Given the description of an element on the screen output the (x, y) to click on. 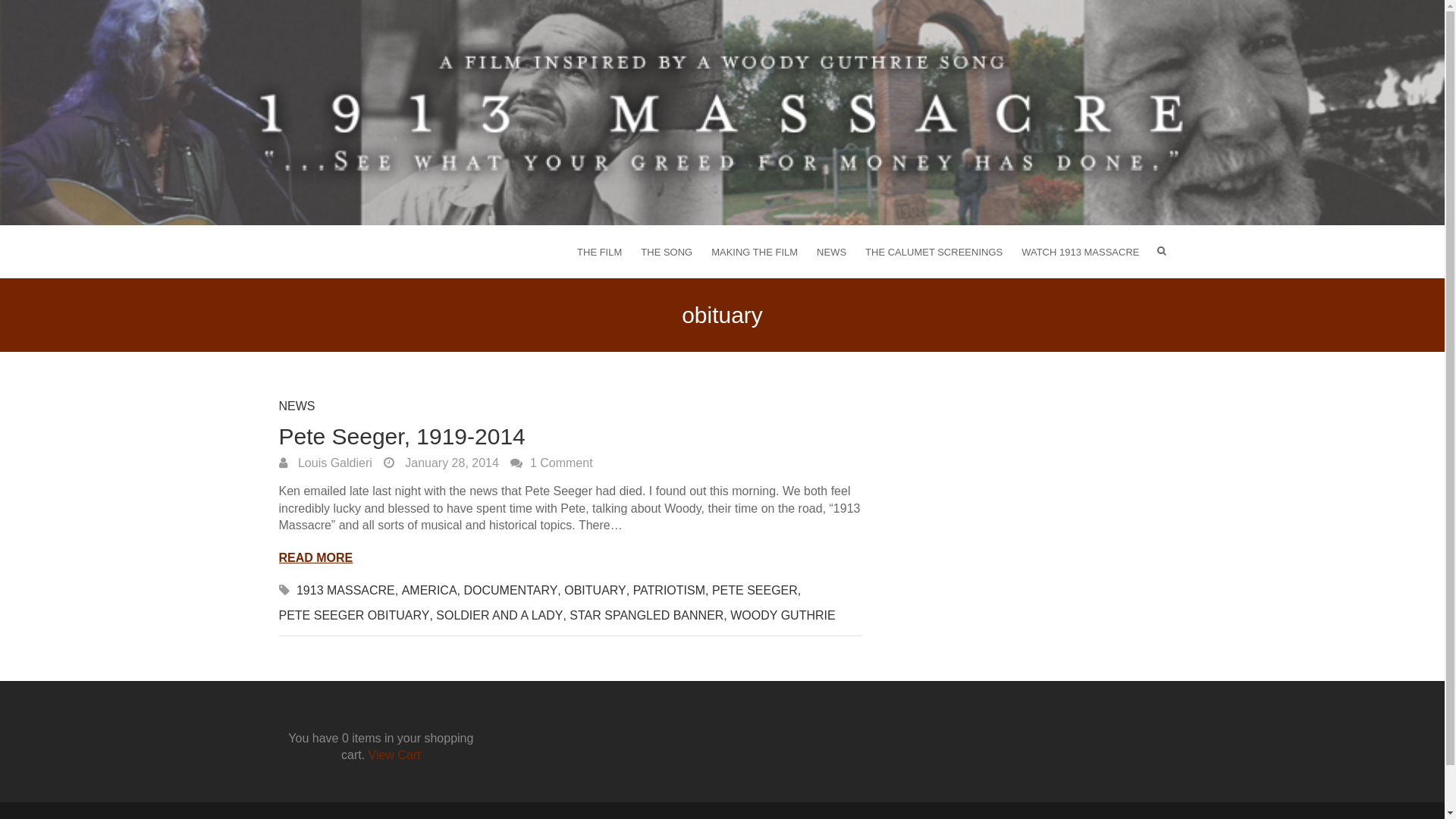
AMERICA Element type: text (429, 593)
OBITUARY Element type: text (595, 593)
View Cart Element type: text (394, 754)
THE CALUMET SCREENINGS Element type: text (933, 251)
NEWS Element type: text (297, 409)
DOCUMENTARY Element type: text (510, 593)
1 Comment Element type: text (551, 462)
WATCH 1913 MASSACRE Element type: text (1080, 251)
Pete Seeger, 1919-2014 Element type: text (402, 435)
STAR SPANGLED BANNER Element type: text (646, 618)
WOODY GUTHRIE Element type: text (782, 618)
PETE SEEGER Element type: text (754, 593)
THE FILM Element type: text (599, 251)
READ MORE Element type: text (316, 557)
PATRIOTISM Element type: text (669, 593)
MAKING THE FILM Element type: text (754, 251)
NEWS Element type: text (831, 251)
PETE SEEGER OBITUARY Element type: text (354, 618)
Louis Galdieri Element type: text (325, 462)
SOLDIER AND A LADY Element type: text (499, 618)
January 28, 2014 Element type: text (440, 462)
1913 MASSACRE Element type: text (345, 593)
THE SONG Element type: text (666, 251)
